Given the description of an element on the screen output the (x, y) to click on. 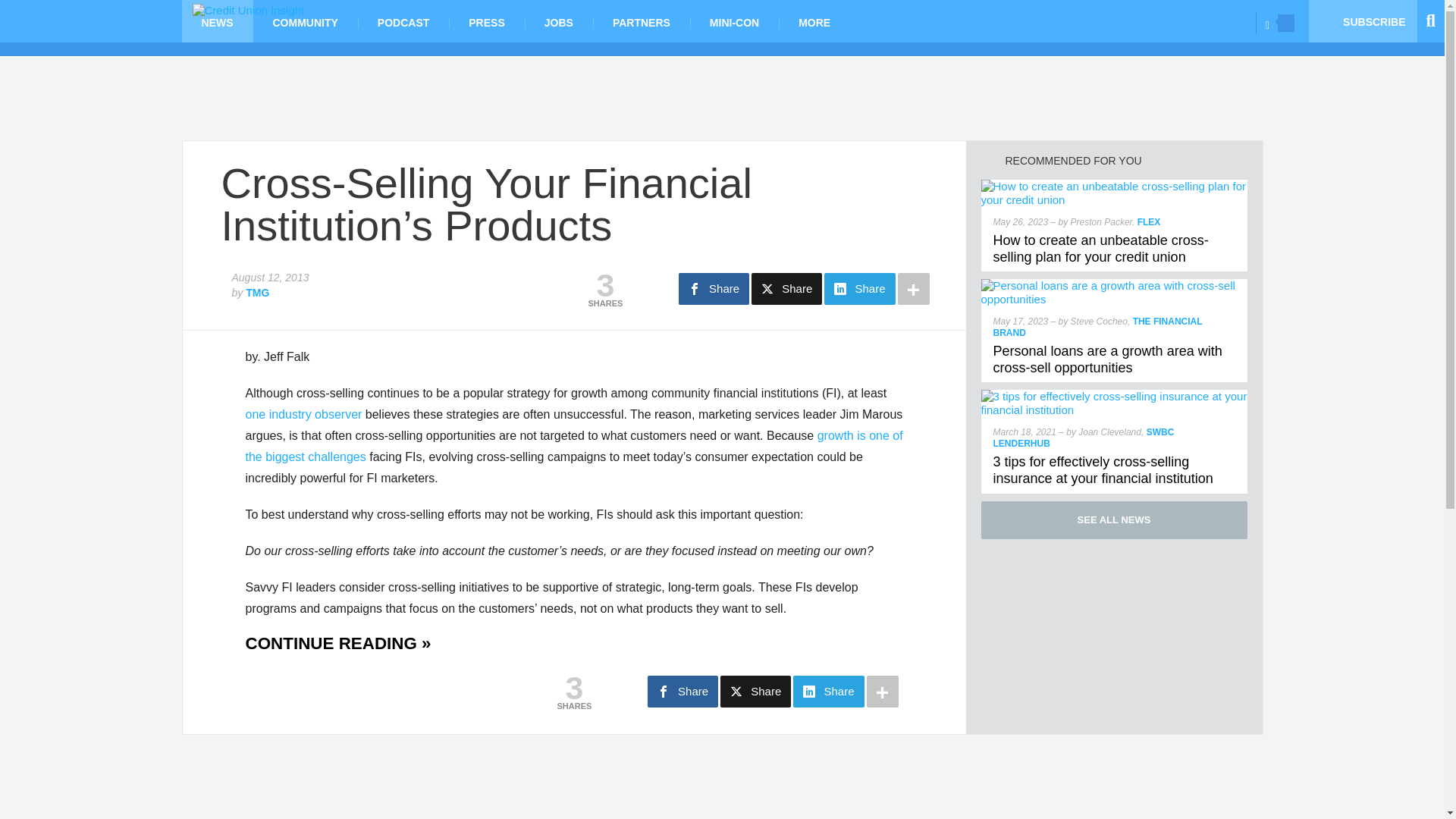
Share (859, 288)
PARTNERS (641, 21)
PRESS (486, 21)
NEWS (217, 21)
Opener (1286, 22)
SUBSCRIBE (1362, 21)
Share (786, 288)
